Given the description of an element on the screen output the (x, y) to click on. 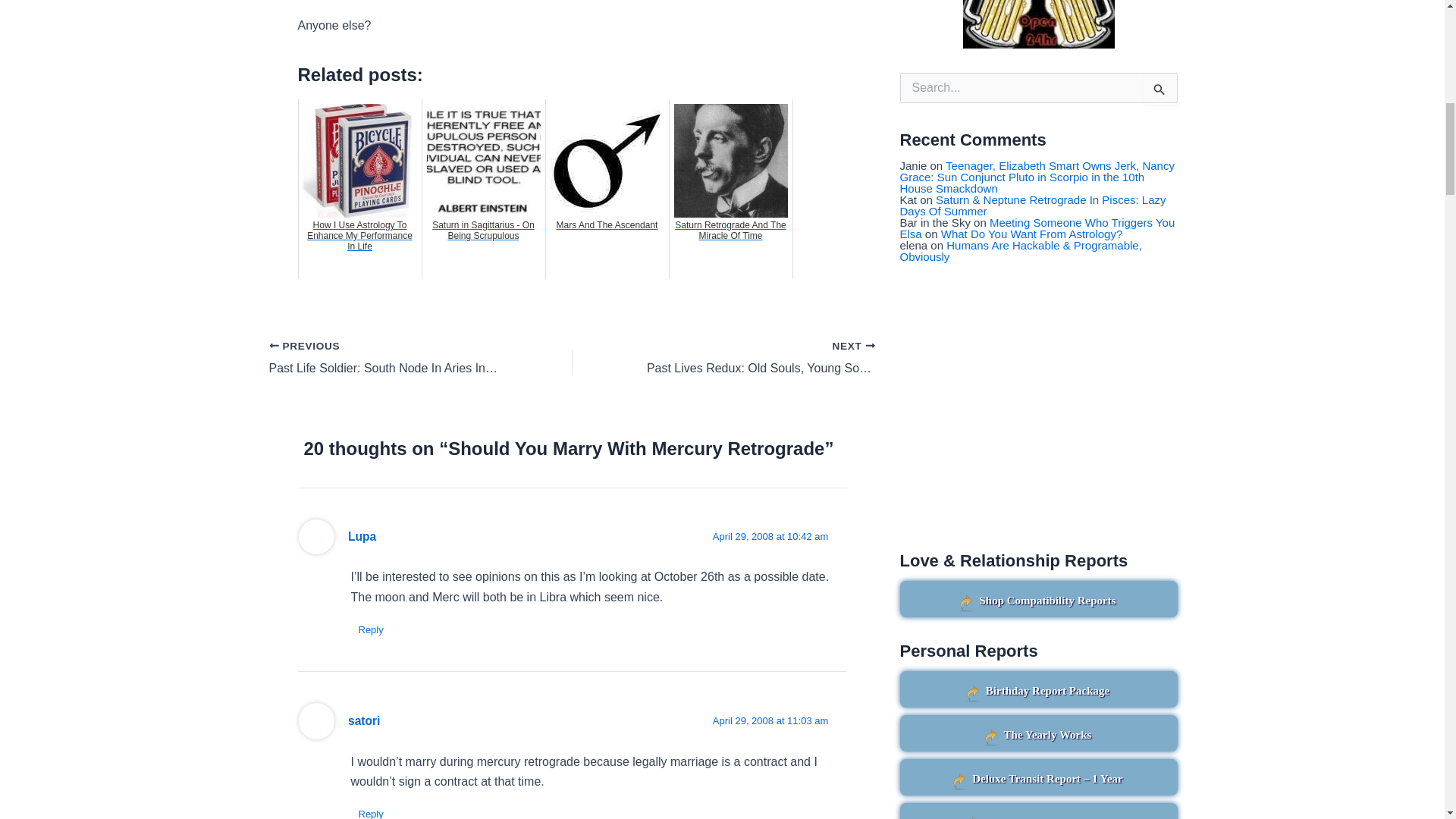
Past Life Soldier: South Node In Aries In The First House (389, 358)
Search (1159, 88)
Search (1159, 88)
